Given the description of an element on the screen output the (x, y) to click on. 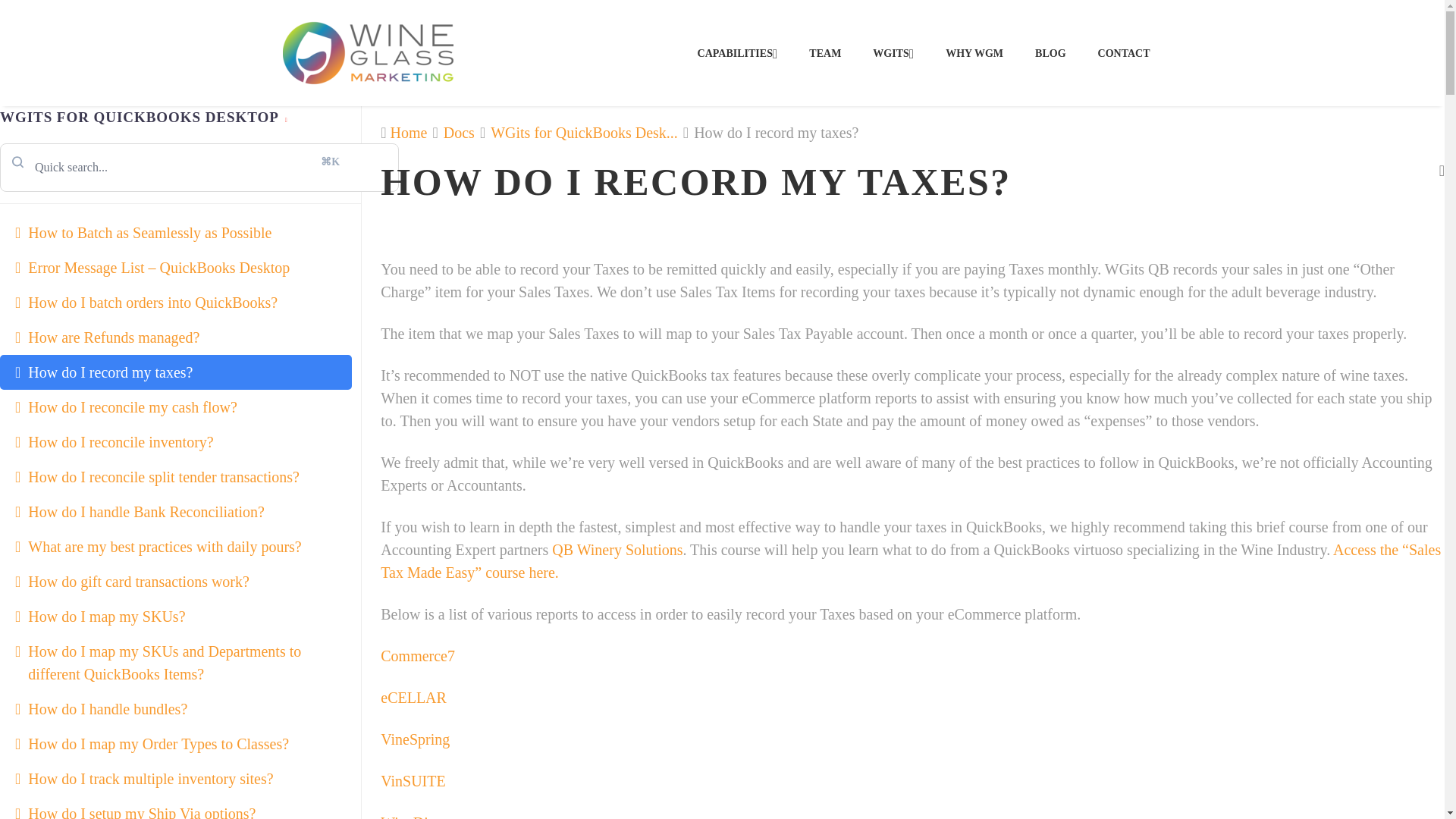
TEAM (824, 53)
BLOG (1050, 53)
WGITS (893, 53)
WHY WGM (973, 53)
CAPABILITIES (737, 53)
CONTACT (1123, 53)
Search for: (199, 167)
